Given the description of an element on the screen output the (x, y) to click on. 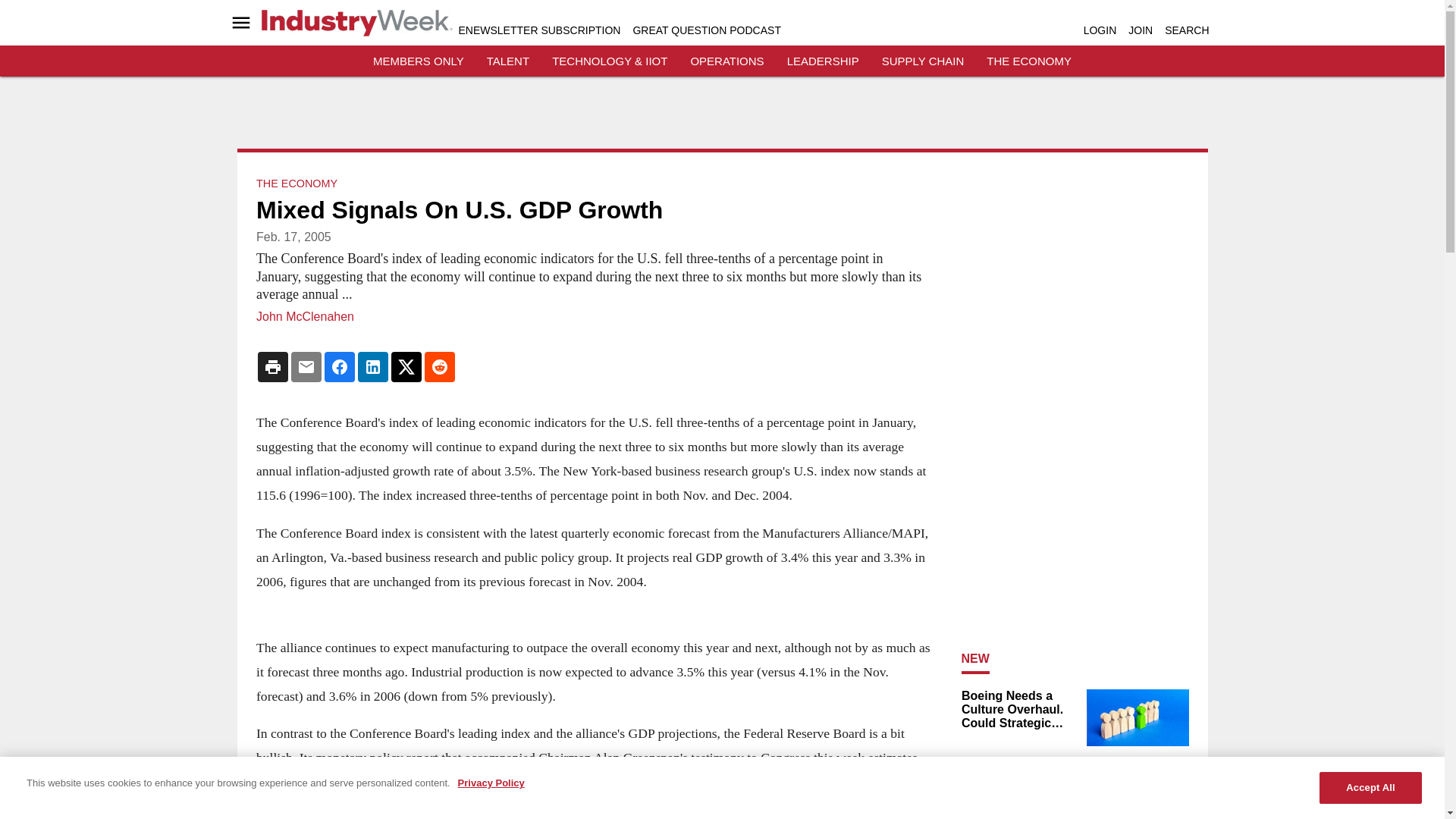
OPERATIONS (726, 60)
ENEWSLETTER SUBSCRIPTION (539, 30)
THE ECONOMY (1029, 60)
TALENT (507, 60)
LOGIN (1099, 30)
MEMBERS ONLY (418, 60)
THE ECONOMY (296, 183)
LEADERSHIP (823, 60)
GREAT QUESTION PODCAST (705, 30)
SEARCH (1186, 30)
